Given the description of an element on the screen output the (x, y) to click on. 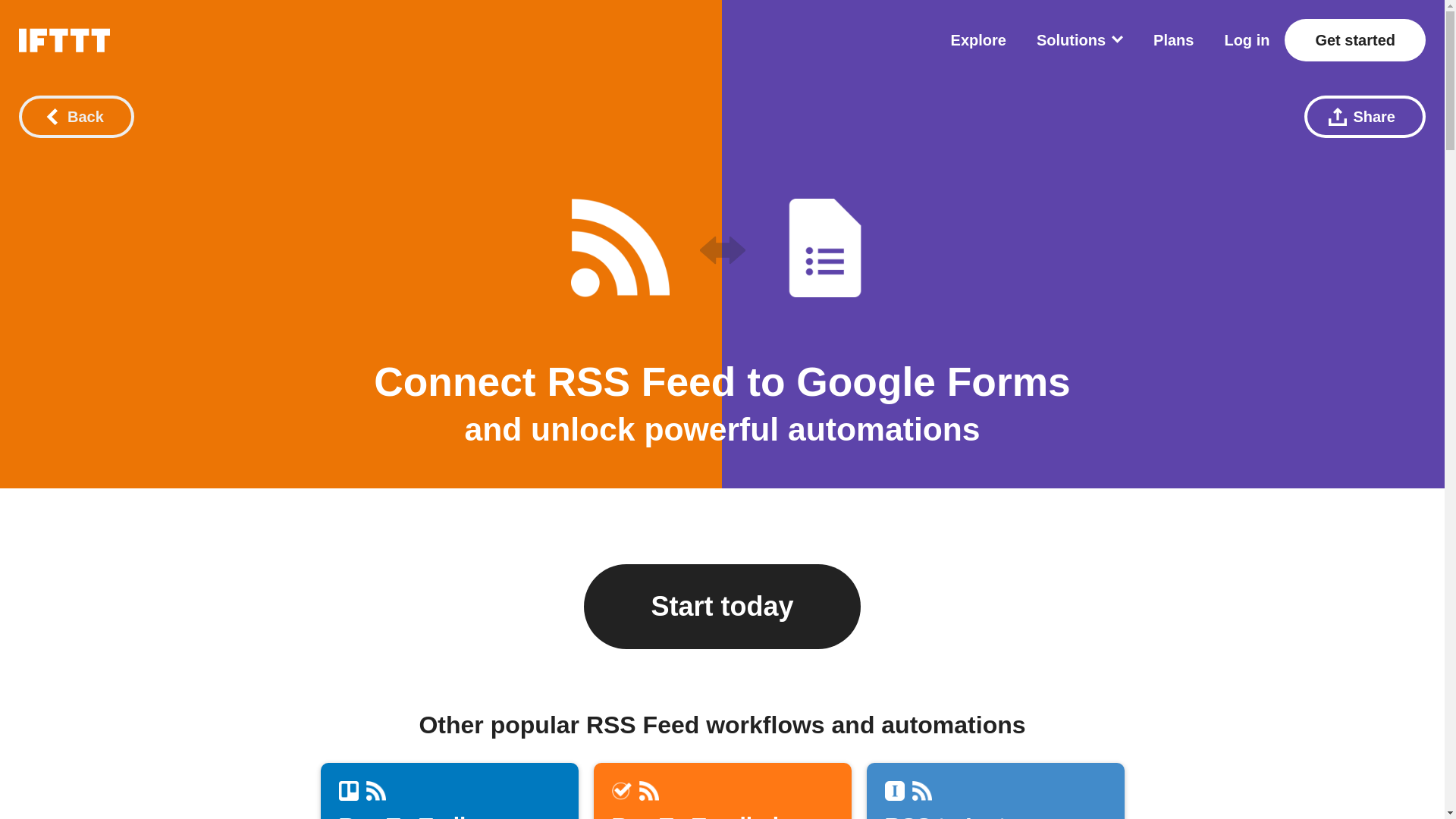
RSS Feed (619, 248)
Plans (1173, 39)
RSS Feed (375, 790)
Back (75, 116)
Get started (1354, 39)
Home (64, 40)
Get started (721, 790)
Toodledo (1354, 39)
Google Forms (995, 790)
Google Forms (620, 790)
Start today (449, 790)
Explore (823, 248)
